Given the description of an element on the screen output the (x, y) to click on. 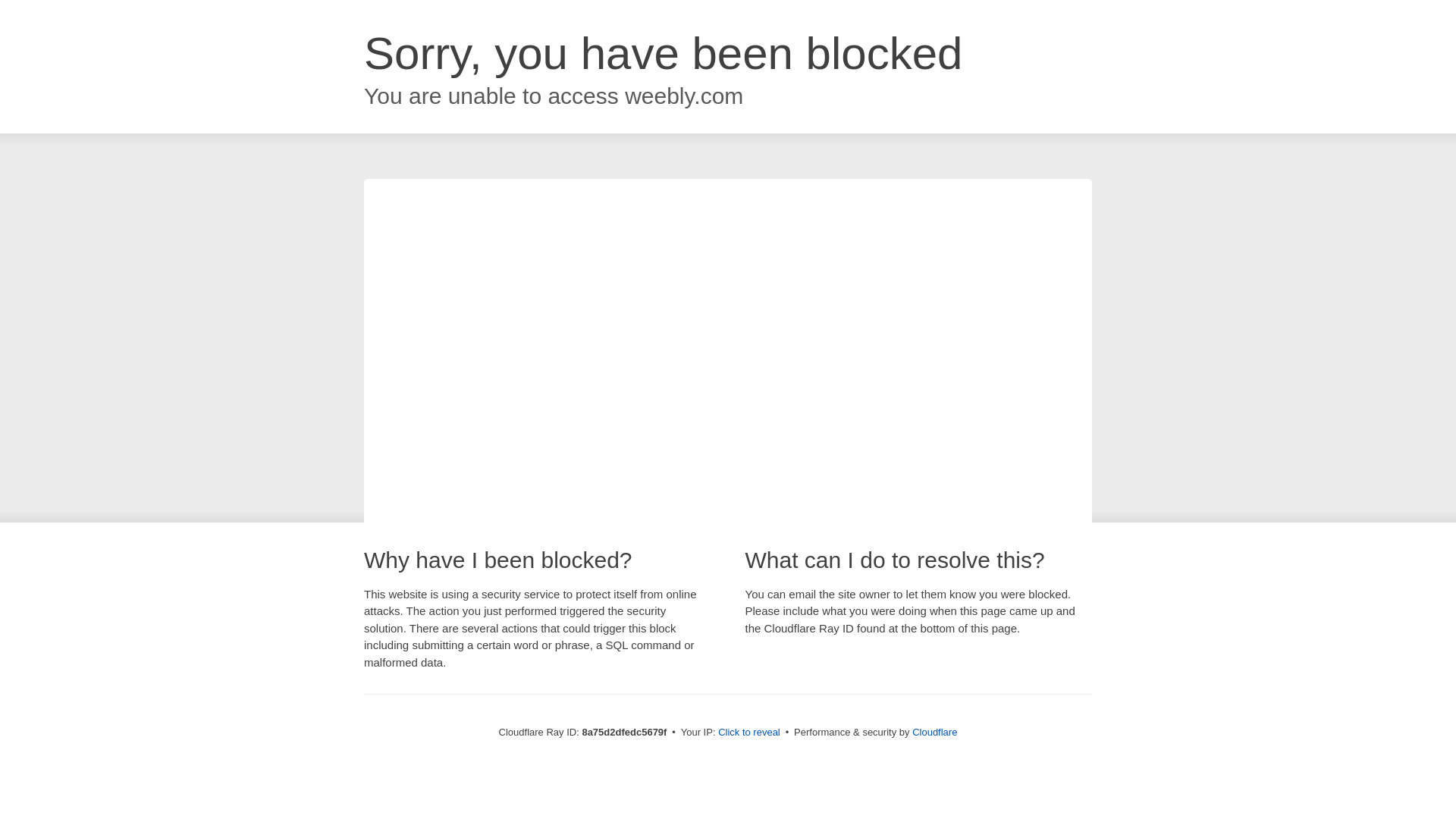
Click to reveal (748, 732)
Cloudflare (934, 731)
